Given the description of an element on the screen output the (x, y) to click on. 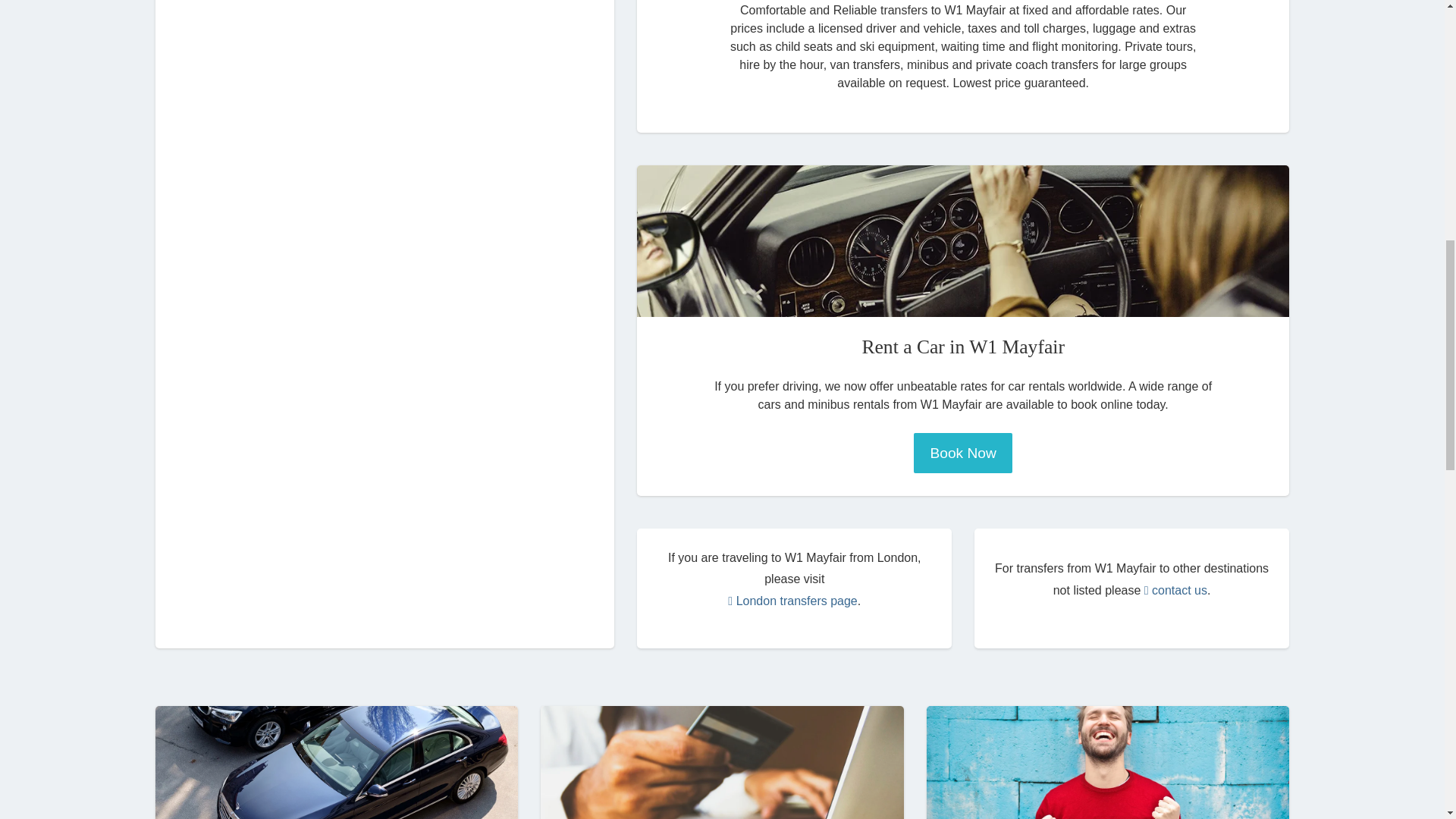
Book Now (962, 453)
London transfers page (792, 600)
contact us (1175, 590)
